Given the description of an element on the screen output the (x, y) to click on. 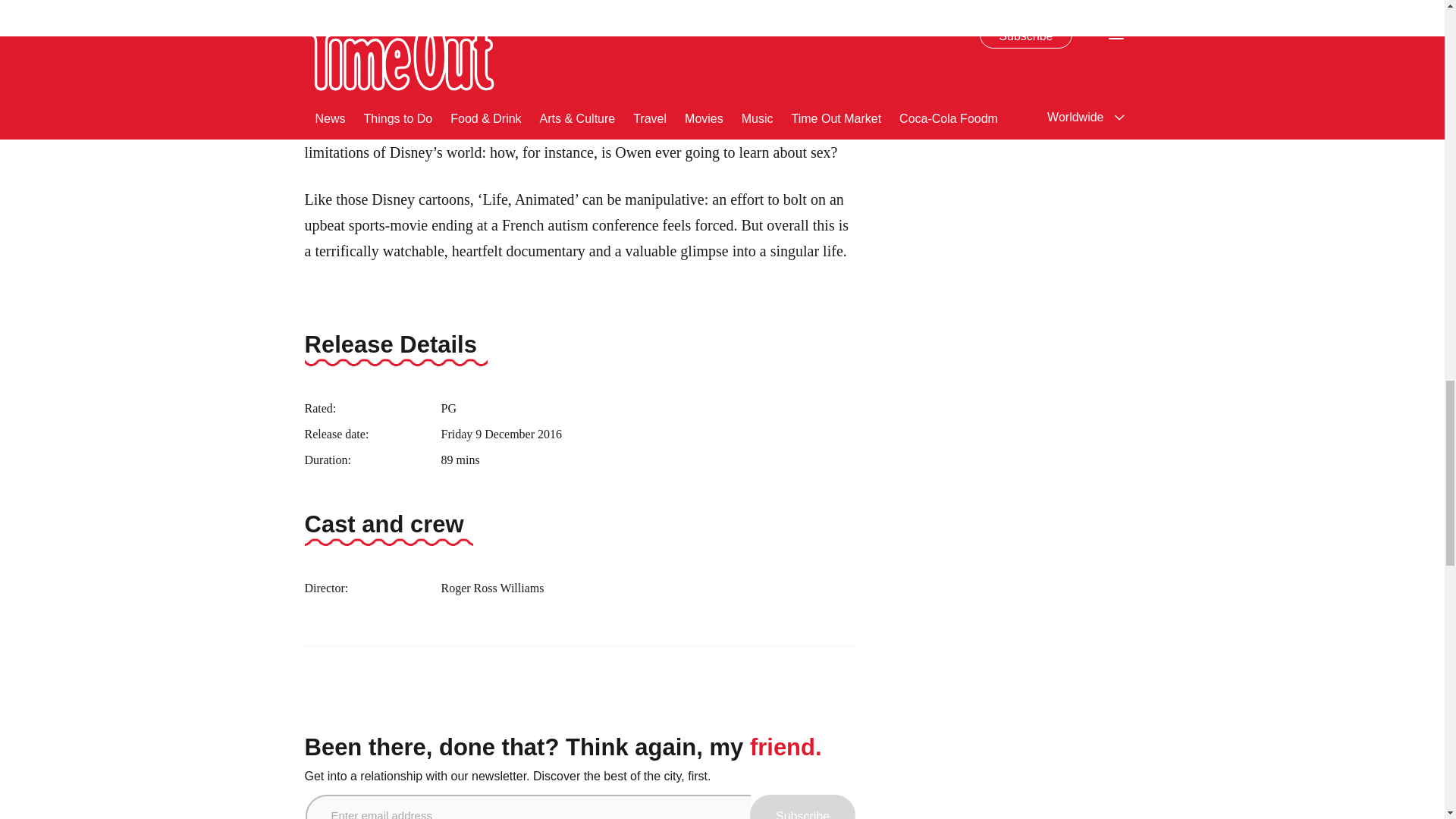
Subscribe (802, 806)
